Given the description of an element on the screen output the (x, y) to click on. 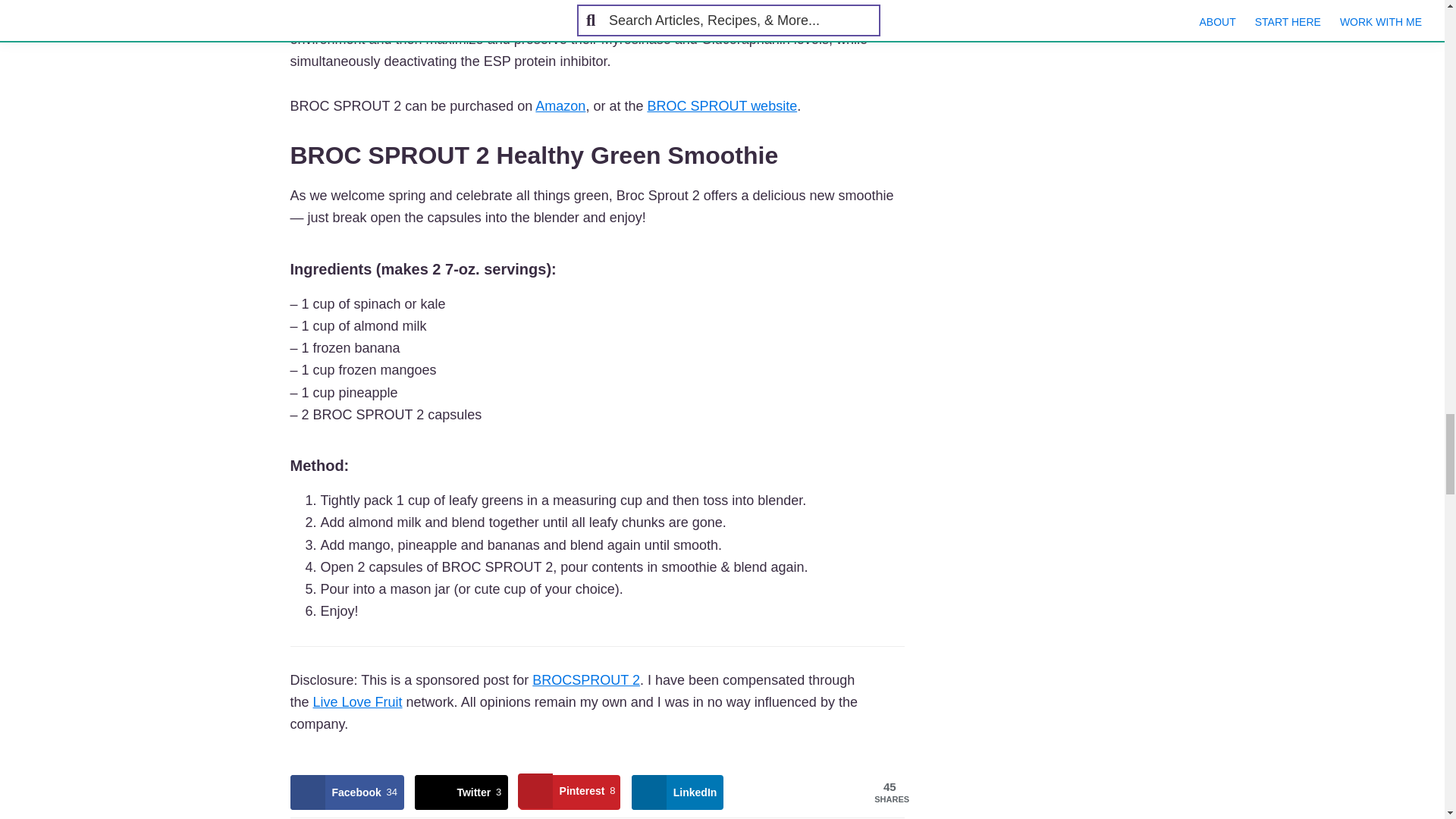
Share on Facebook (346, 791)
BROCSPROUT 2 (586, 679)
Live Love Fruit (358, 702)
Share on LinkedIn (677, 791)
Save to Pinterest (569, 791)
Amazon (560, 105)
Share on X (460, 791)
BROC SPROUT website (721, 105)
